Given the description of an element on the screen output the (x, y) to click on. 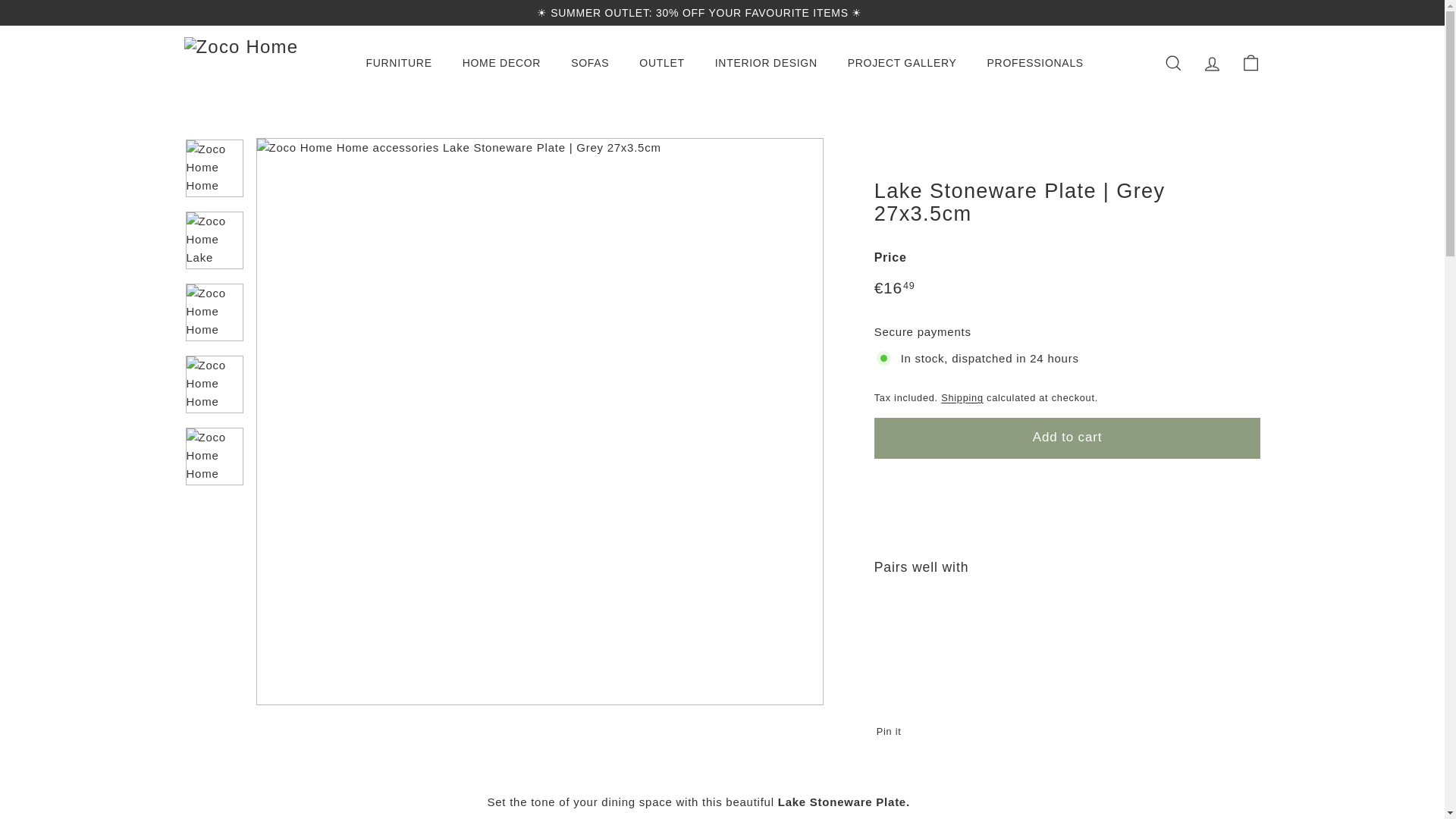
Pinterest (1248, 12)
Zoco Home  on Instagram (1226, 12)
TikTok (1256, 12)
Zoco Home  on Facebook (1233, 12)
Zoco Home  on TikTok (1256, 12)
Zoco Home  on YouTube (1240, 12)
Instagram (1226, 12)
Zoco Home  on Pinterest (1248, 12)
Facebook (1233, 12)
YouTube (1240, 12)
Pin on Pinterest (893, 730)
